Given the description of an element on the screen output the (x, y) to click on. 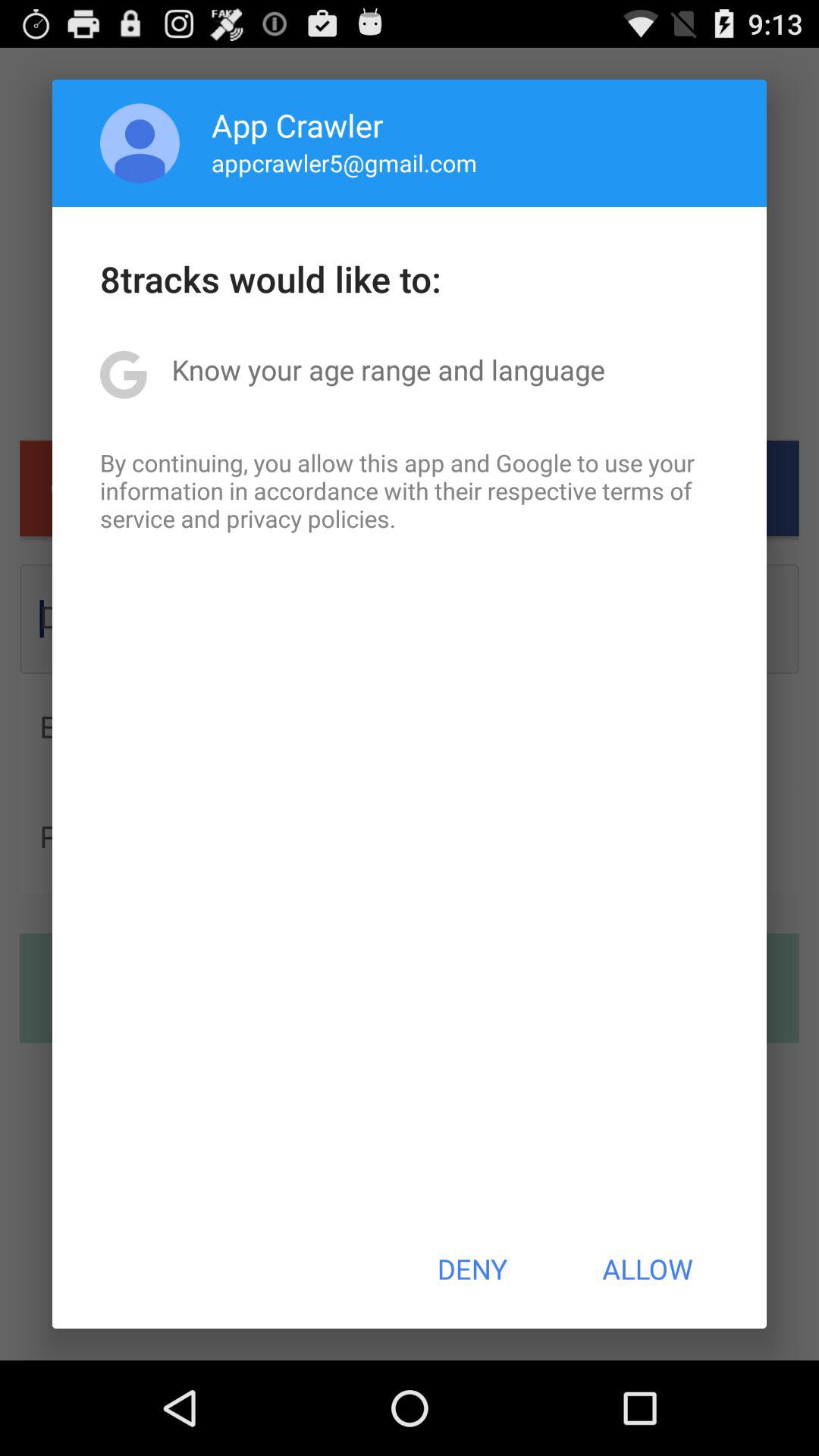
click the app crawler app (297, 124)
